Given the description of an element on the screen output the (x, y) to click on. 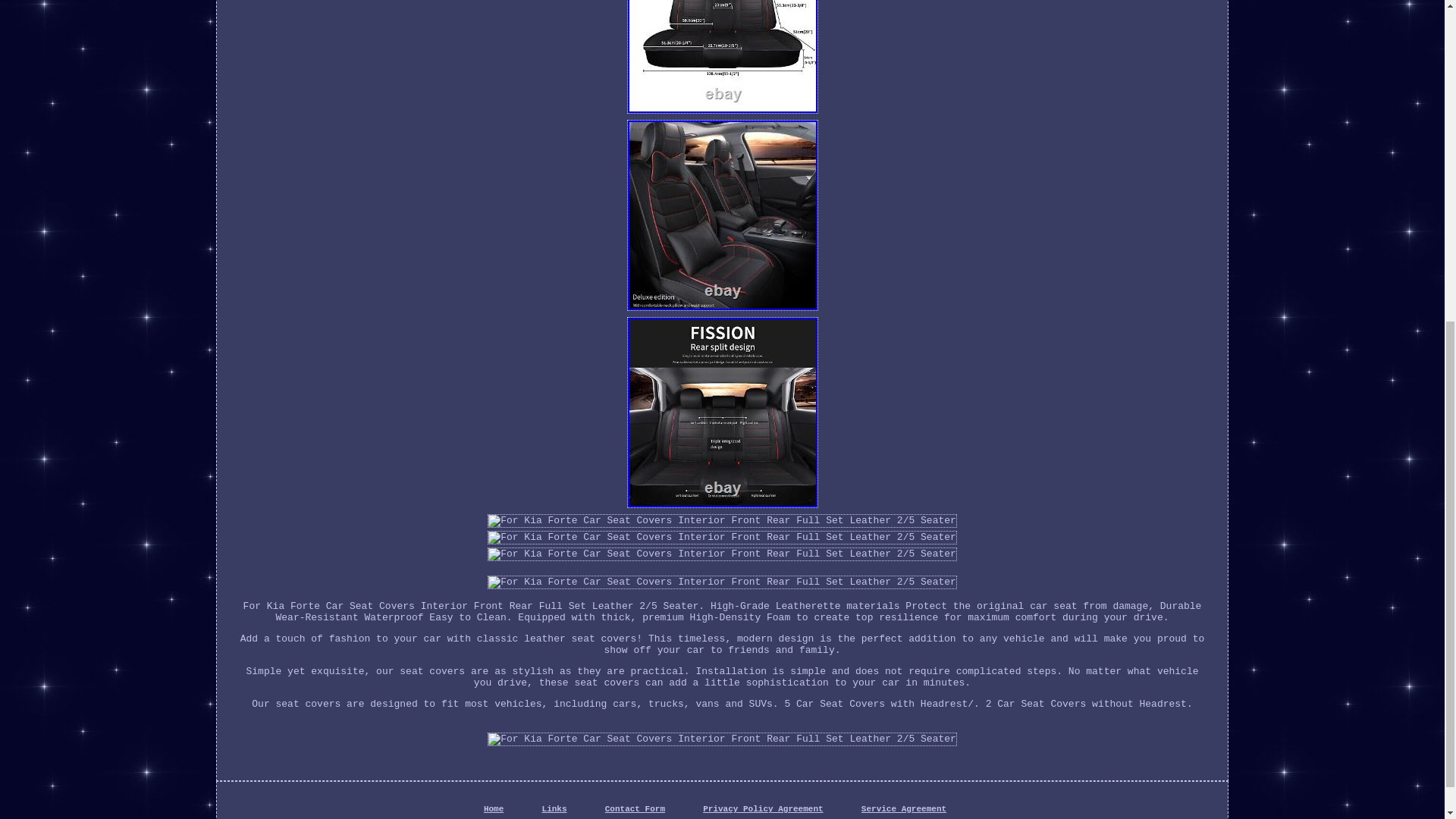
Service Agreement (903, 809)
Contact Form (635, 809)
Home (493, 809)
Privacy Policy Agreement (762, 809)
Links (554, 809)
